Given the description of an element on the screen output the (x, y) to click on. 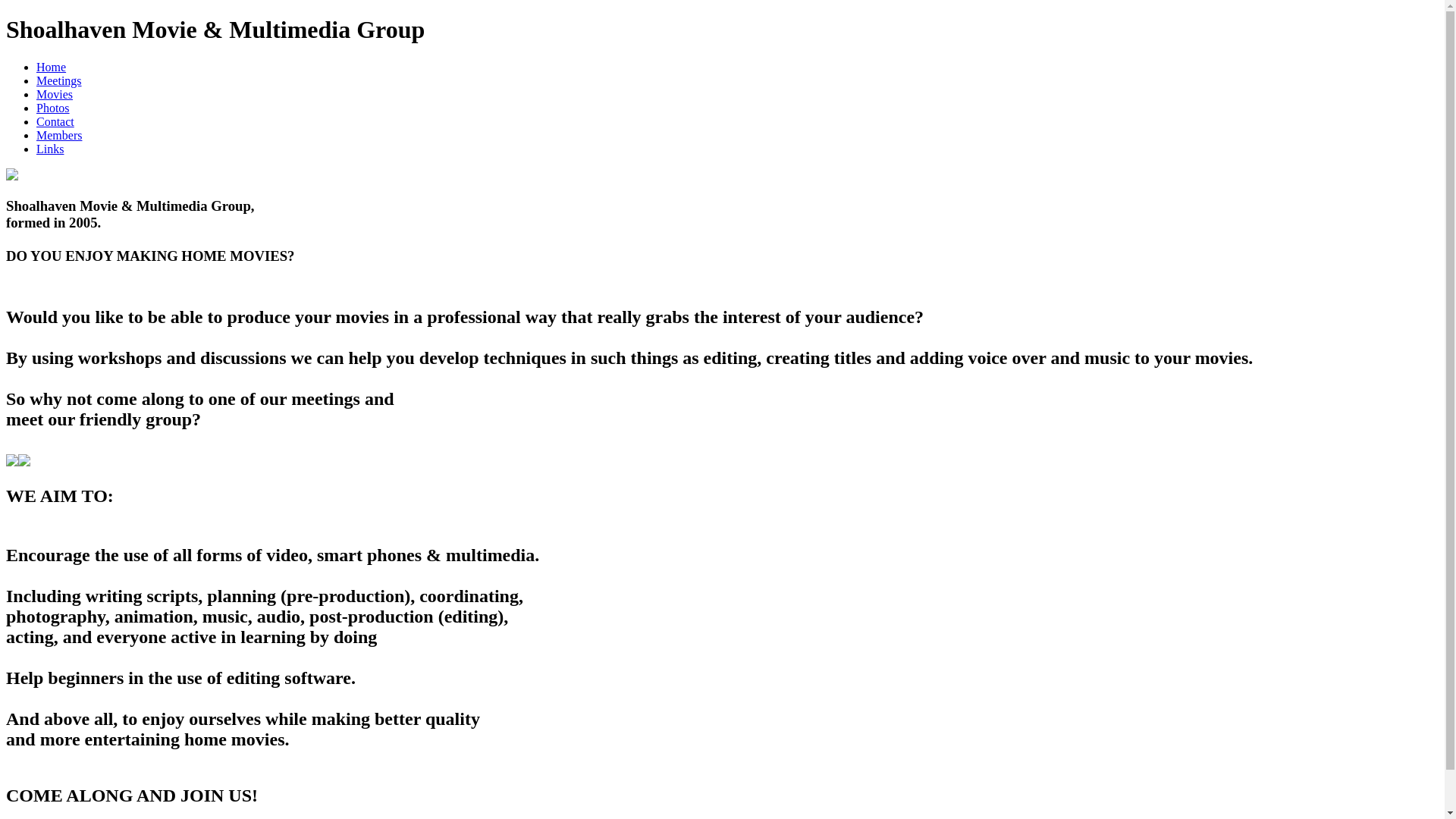
Movies Element type: text (54, 93)
Home Element type: text (50, 66)
Members Element type: text (58, 134)
Photos Element type: text (52, 107)
Contact Element type: text (55, 121)
Links Element type: text (49, 148)
Meetings Element type: text (58, 80)
